Given the description of an element on the screen output the (x, y) to click on. 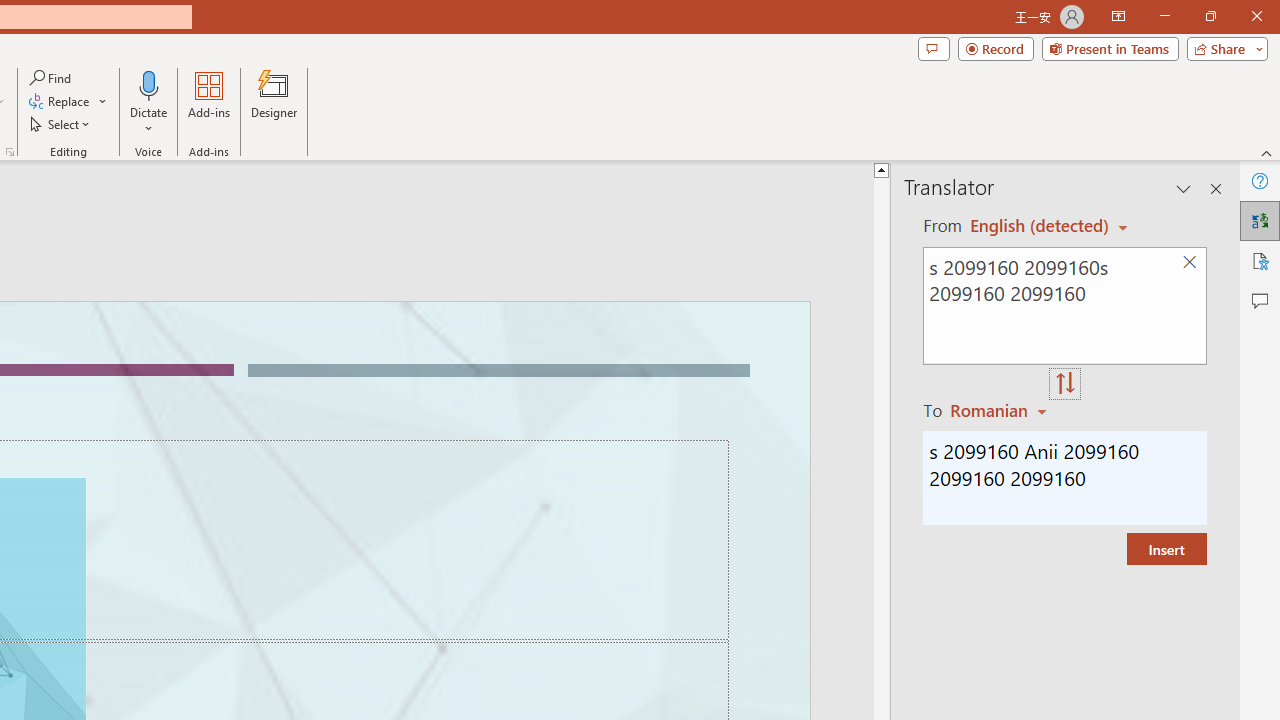
Class: actions-container (94, 265)
